Given the description of an element on the screen output the (x, y) to click on. 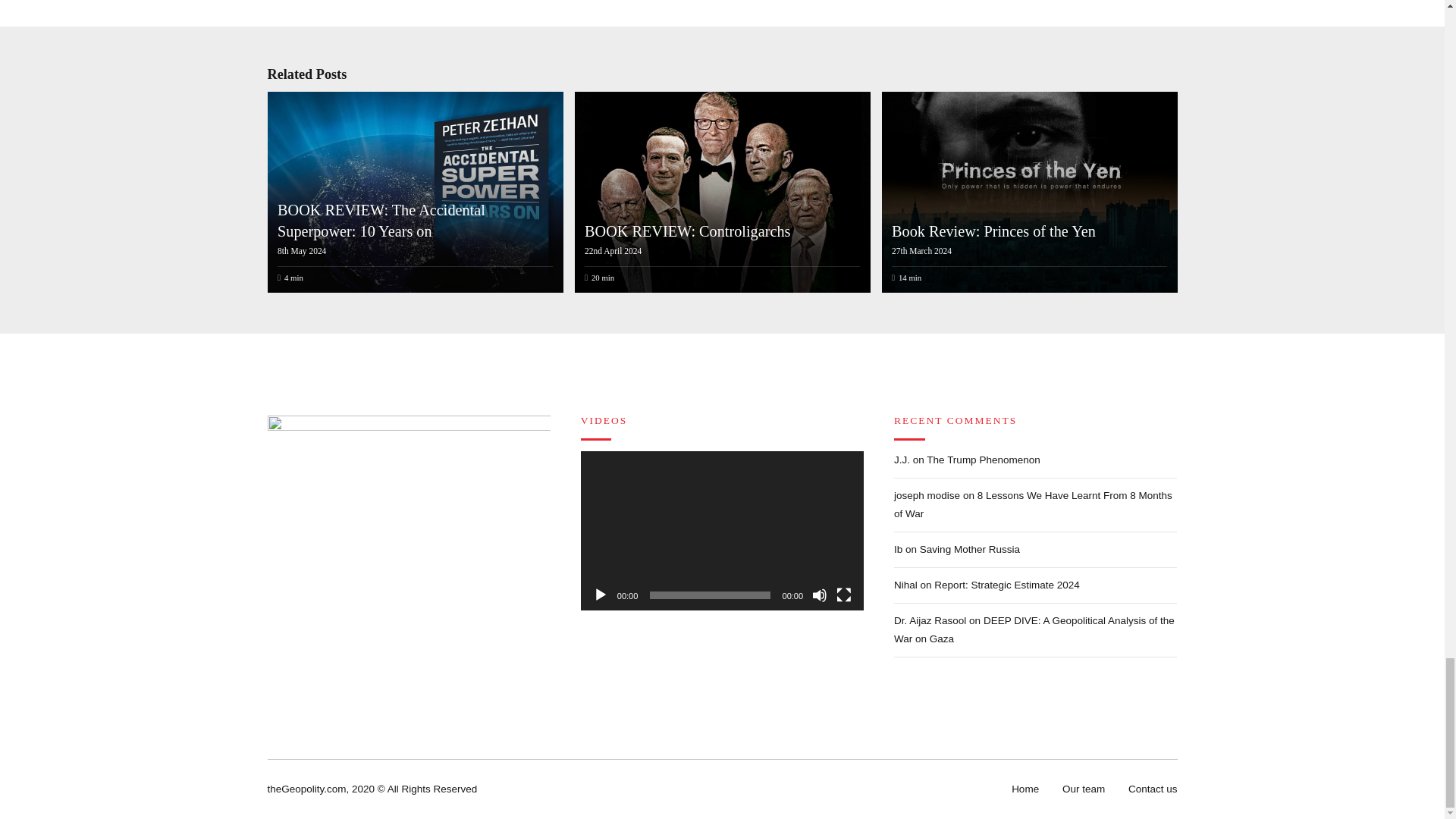
BOOK REVIEW: Controligarchs (719, 191)
BOOK REVIEW: The Accidental Superpower: 10 Years on (412, 191)
Mute (819, 595)
Fullscreen (843, 595)
BOOK REVIEW: The Accidental Superpower: 10 Years on (381, 220)
BOOK REVIEW: Controligarchs (687, 230)
Book Review: Princes of the Yen (993, 230)
Book Review: Princes of the Yen (1026, 191)
Play (600, 595)
